Given the description of an element on the screen output the (x, y) to click on. 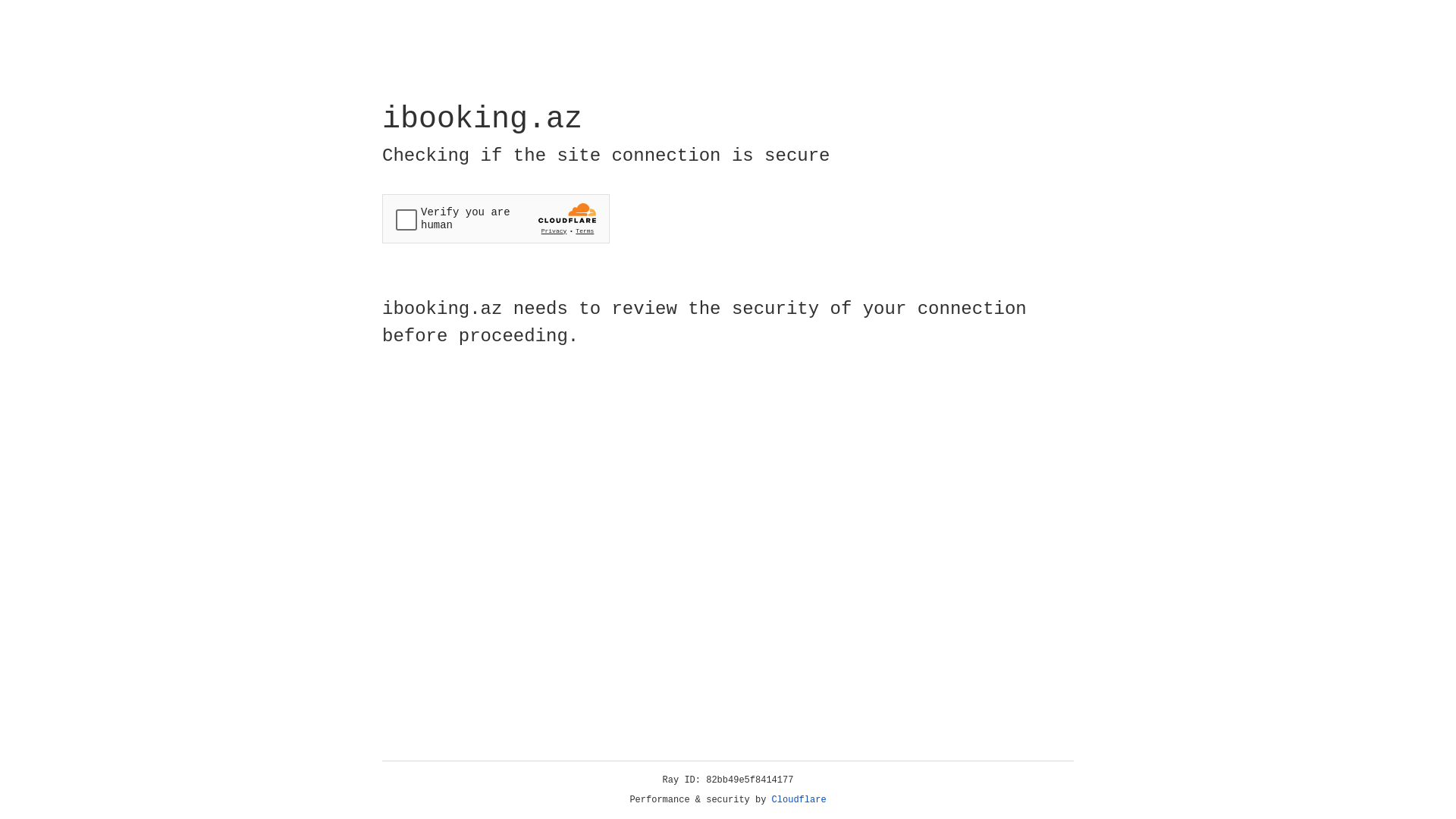
Cloudflare Element type: text (798, 799)
Widget containing a Cloudflare security challenge Element type: hover (495, 218)
